Given the description of an element on the screen output the (x, y) to click on. 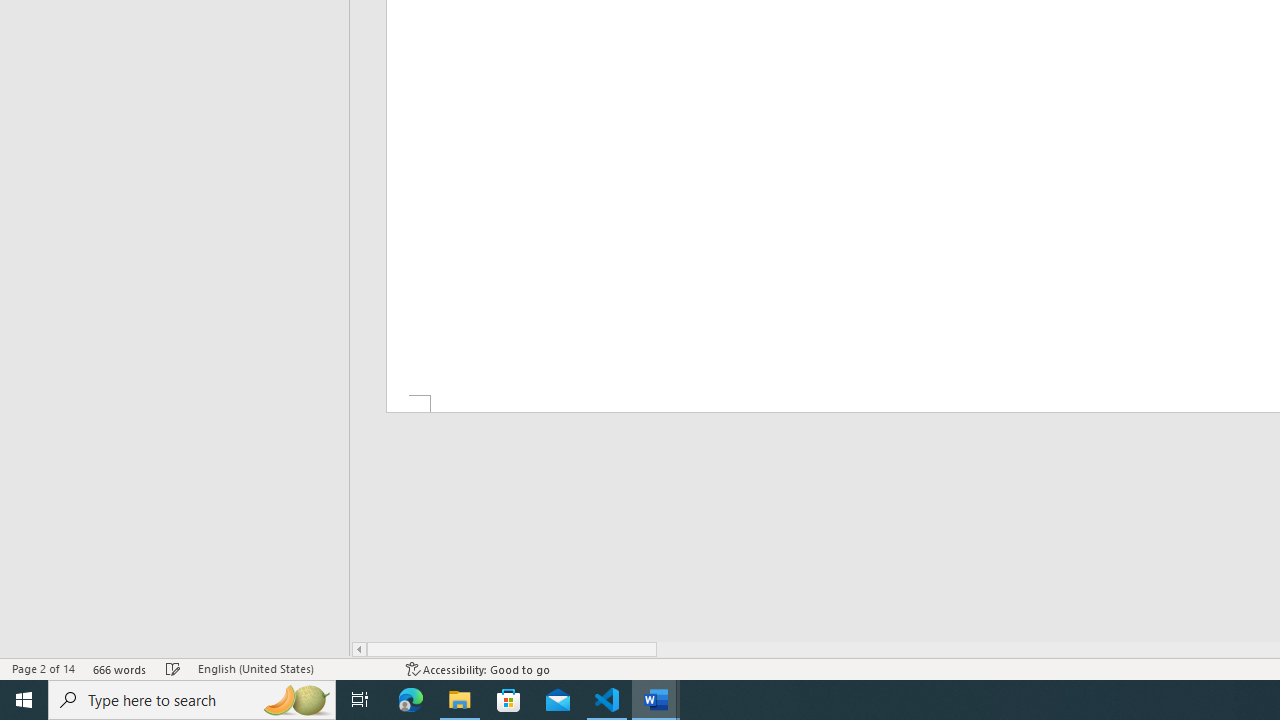
Page Number Page 2 of 14 (43, 668)
